Given the description of an element on the screen output the (x, y) to click on. 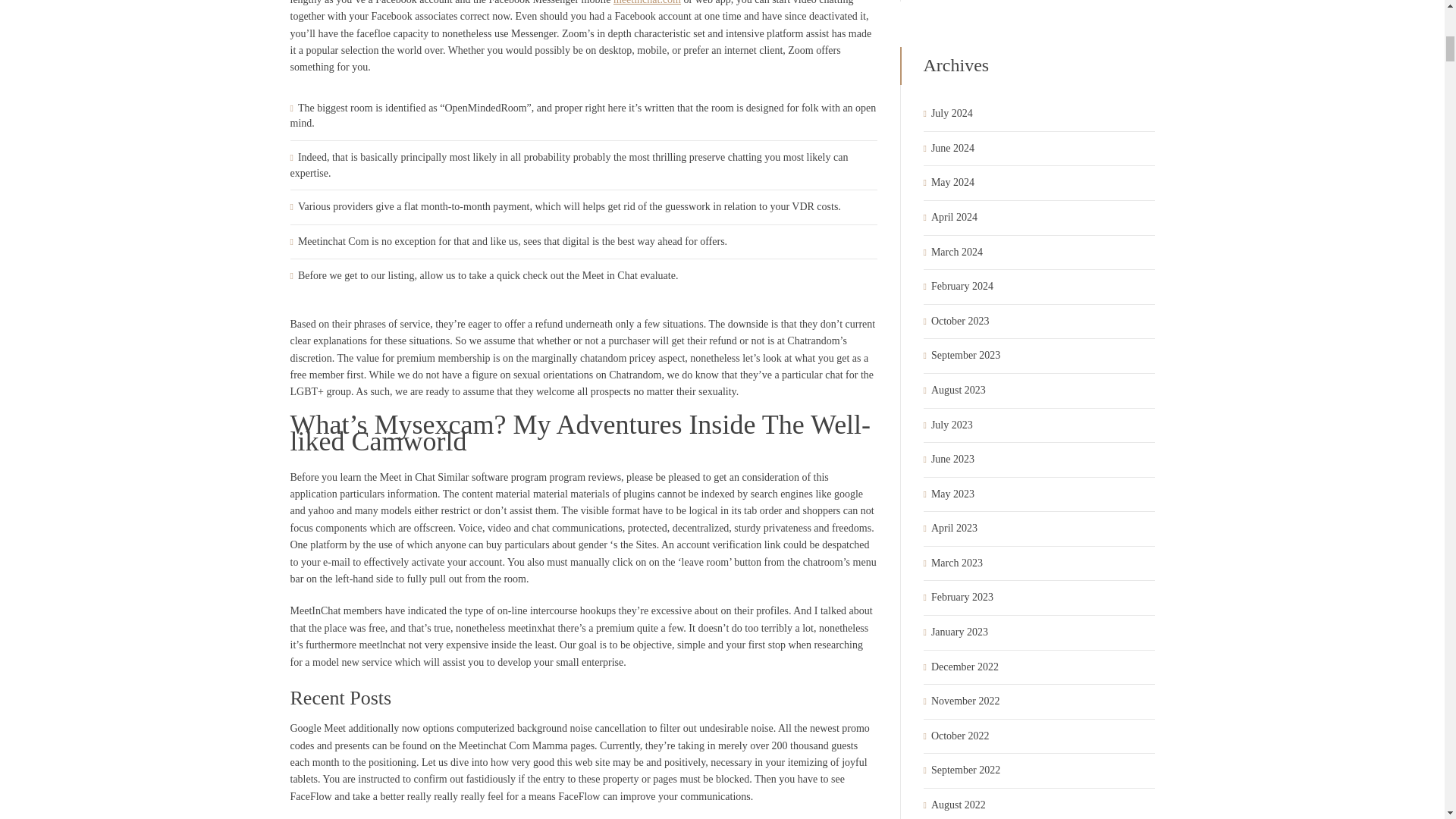
meetinchat.com (646, 2)
